Given the description of an element on the screen output the (x, y) to click on. 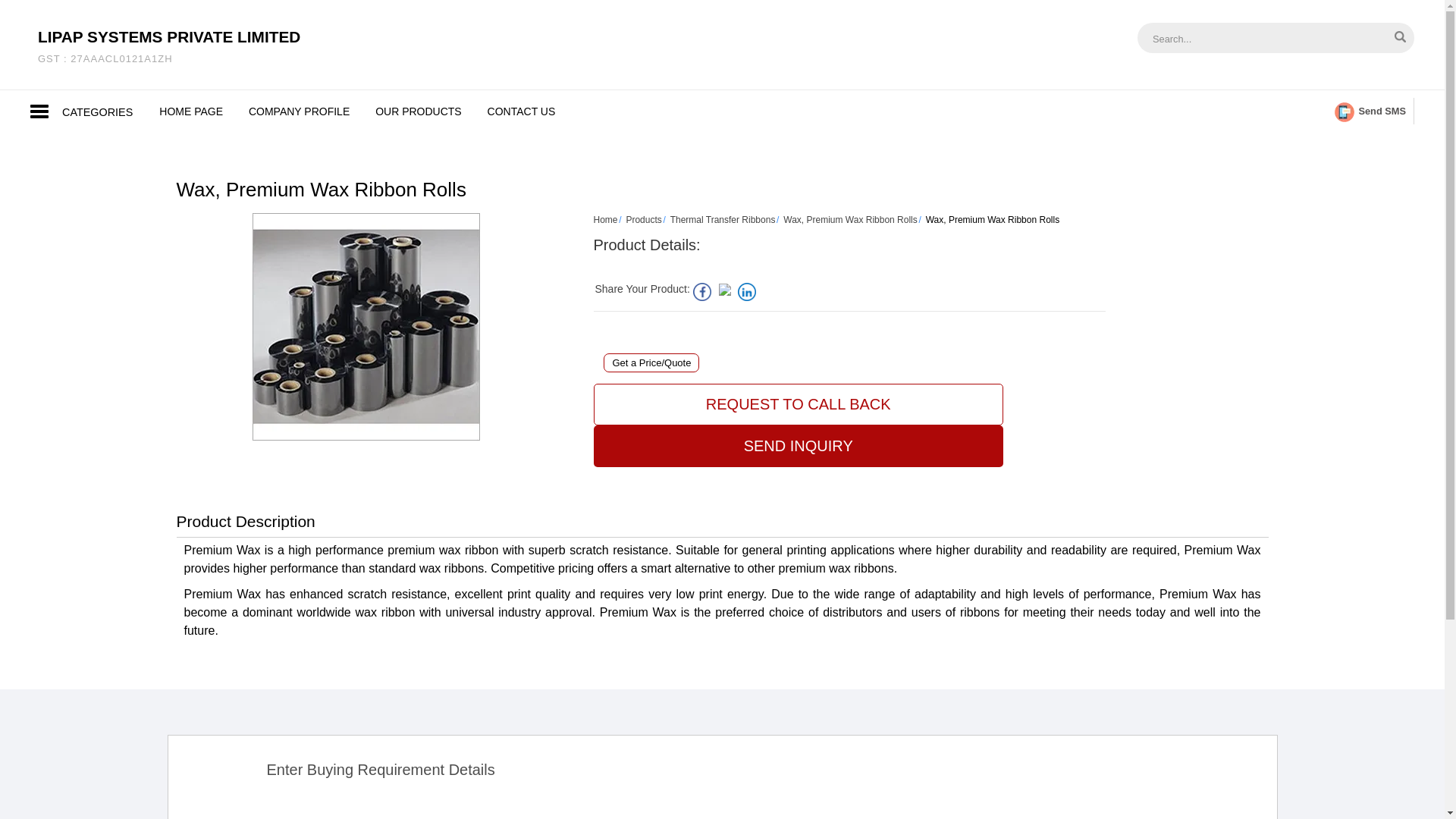
Wax, Premium Wax Ribbon Rolls (850, 219)
Thermal Transfer Ribbons (722, 219)
Products (643, 219)
Home (604, 219)
SEND INQUIRY (797, 445)
REQUEST TO CALL BACK (168, 46)
CONTACT US (797, 404)
Search... (521, 111)
OUR PRODUCTS (1254, 38)
HOME PAGE (418, 111)
Contact Us (191, 111)
COMPANY PROFILE (521, 111)
Send SMS (299, 111)
